Given the description of an element on the screen output the (x, y) to click on. 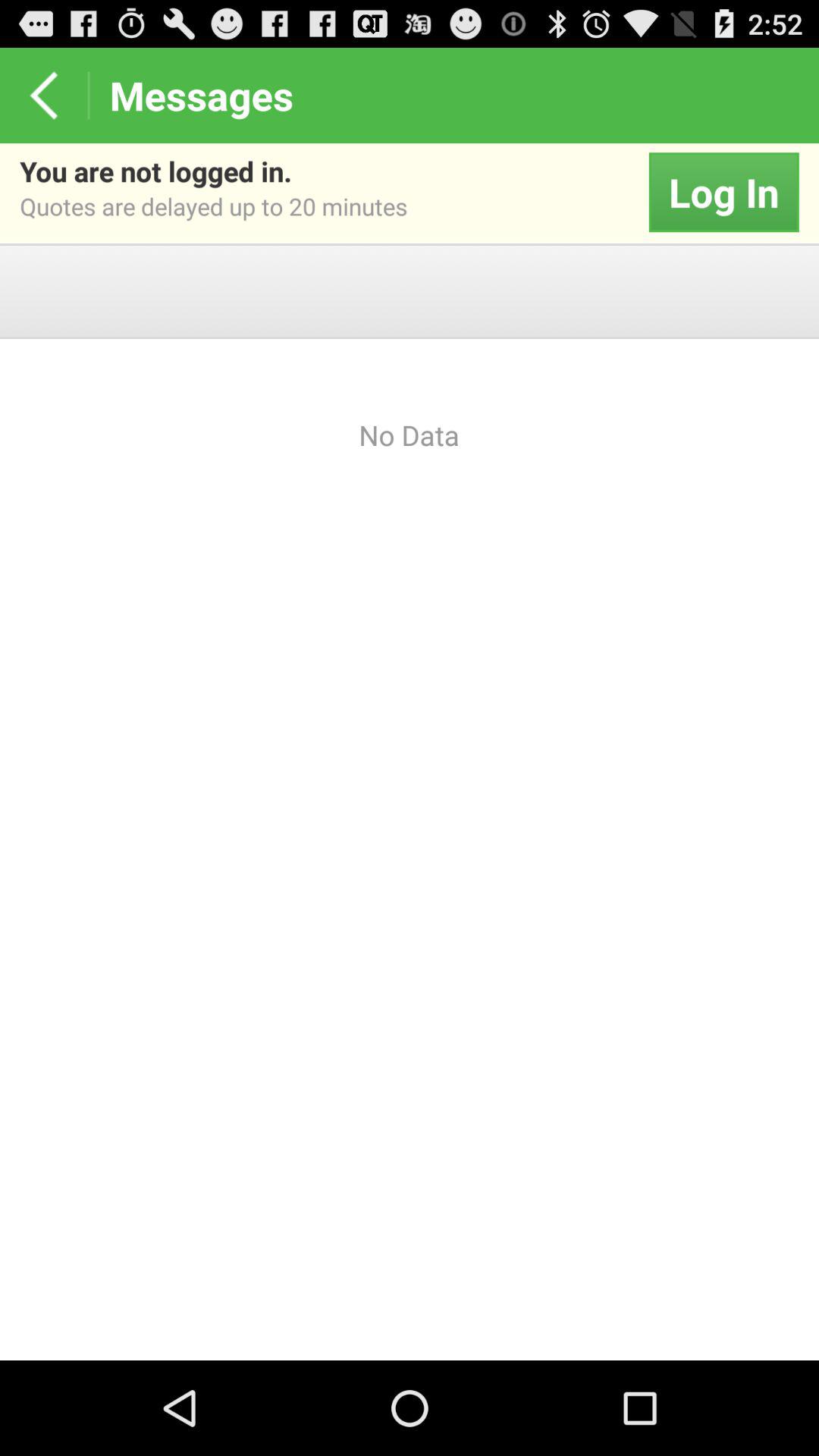
tap the icon to the right of the you are not app (723, 193)
